Given the description of an element on the screen output the (x, y) to click on. 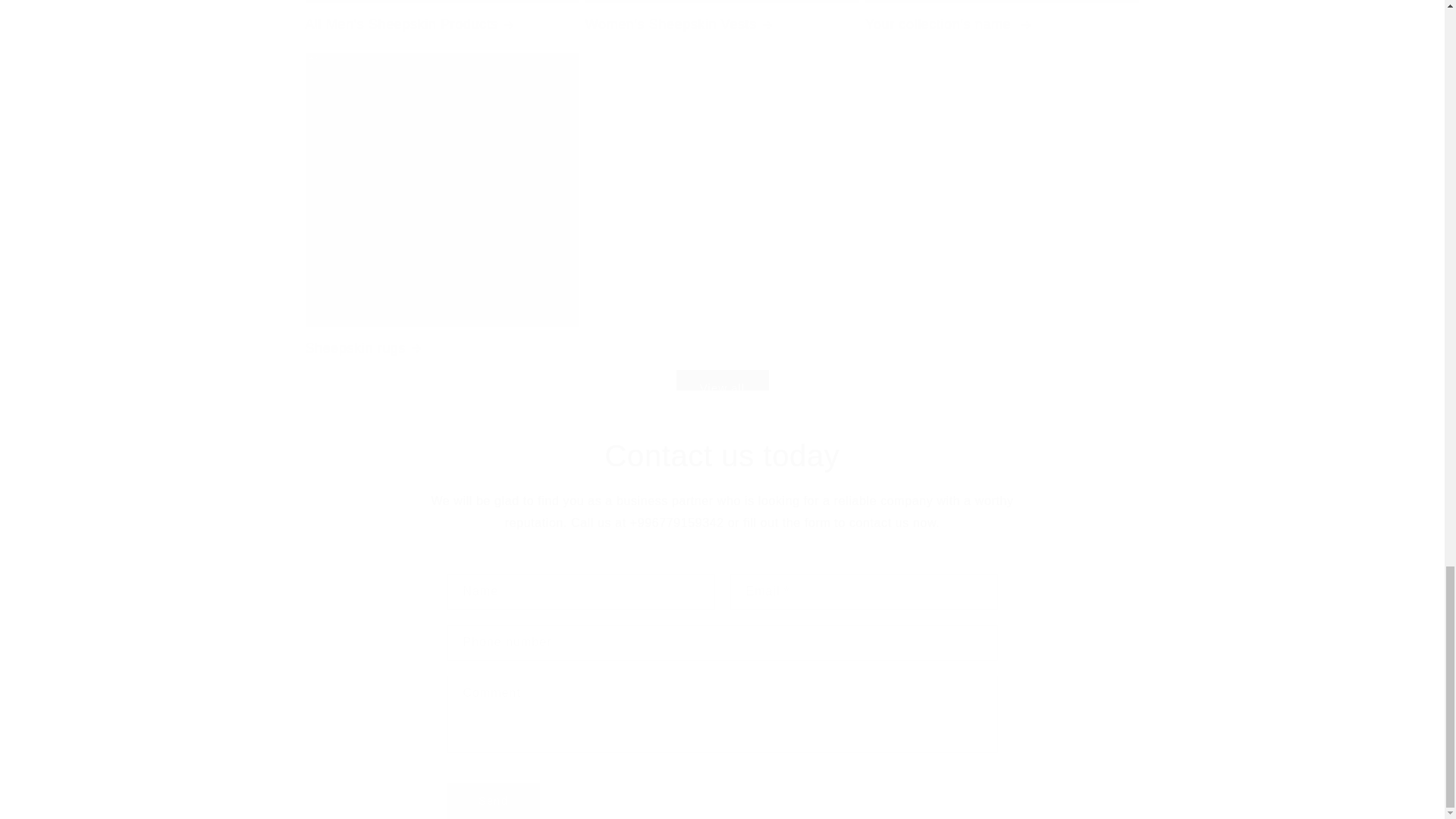
View all (721, 387)
Your collection's name (1001, 23)
All Men's Sheepskin Products (441, 23)
Contact us today (721, 455)
Women's Sheepskin Vests (722, 23)
